Given the description of an element on the screen output the (x, y) to click on. 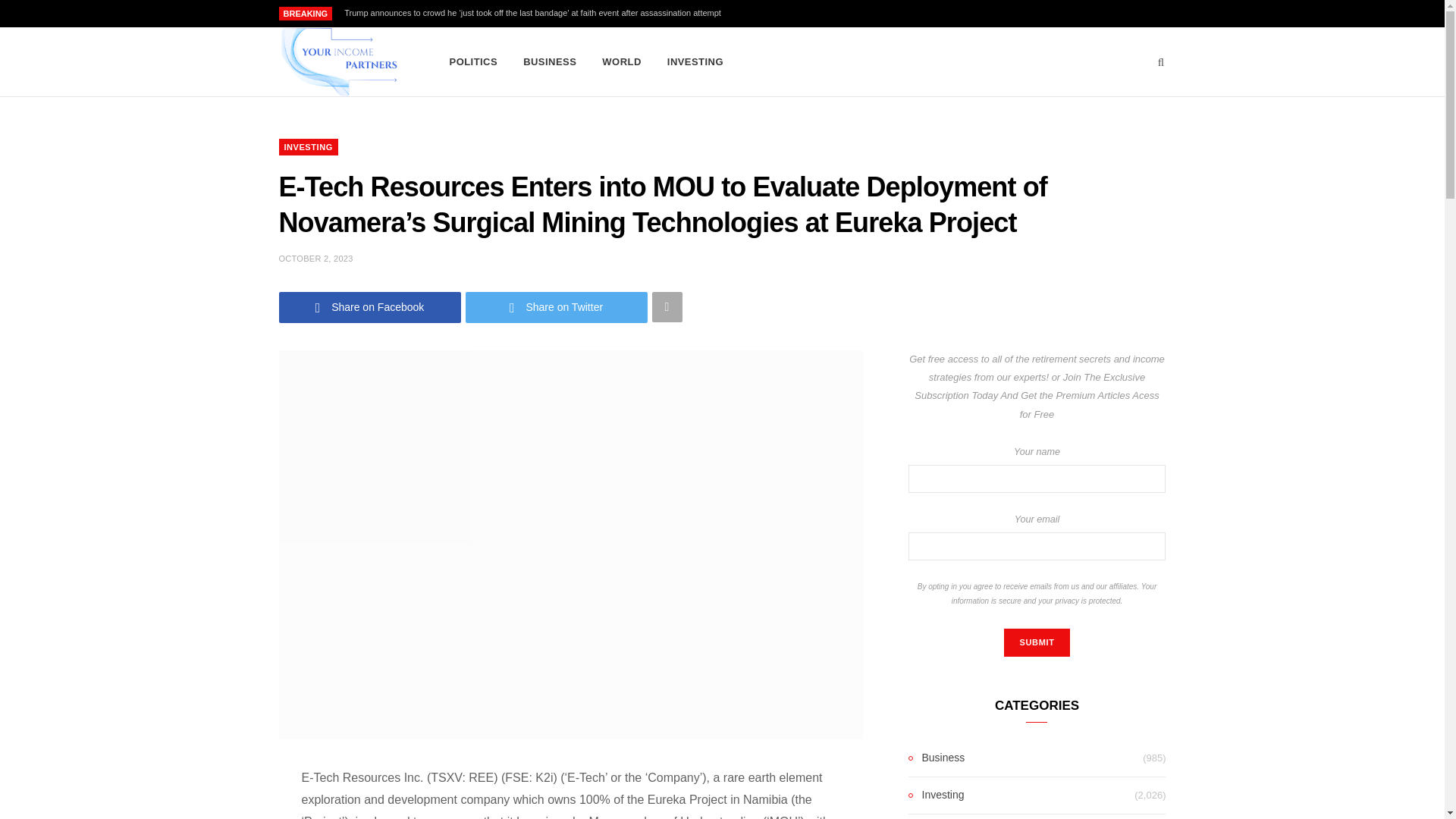
Share on Twitter (556, 306)
Share on Twitter (556, 306)
WORLD (621, 61)
OCTOBER 2, 2023 (316, 257)
BUSINESS (550, 61)
INVESTING (695, 61)
Submit (1036, 642)
INVESTING (308, 146)
Share on Facebook (370, 306)
Share on Facebook (370, 306)
Your Income Partners (339, 61)
POLITICS (473, 61)
